Given the description of an element on the screen output the (x, y) to click on. 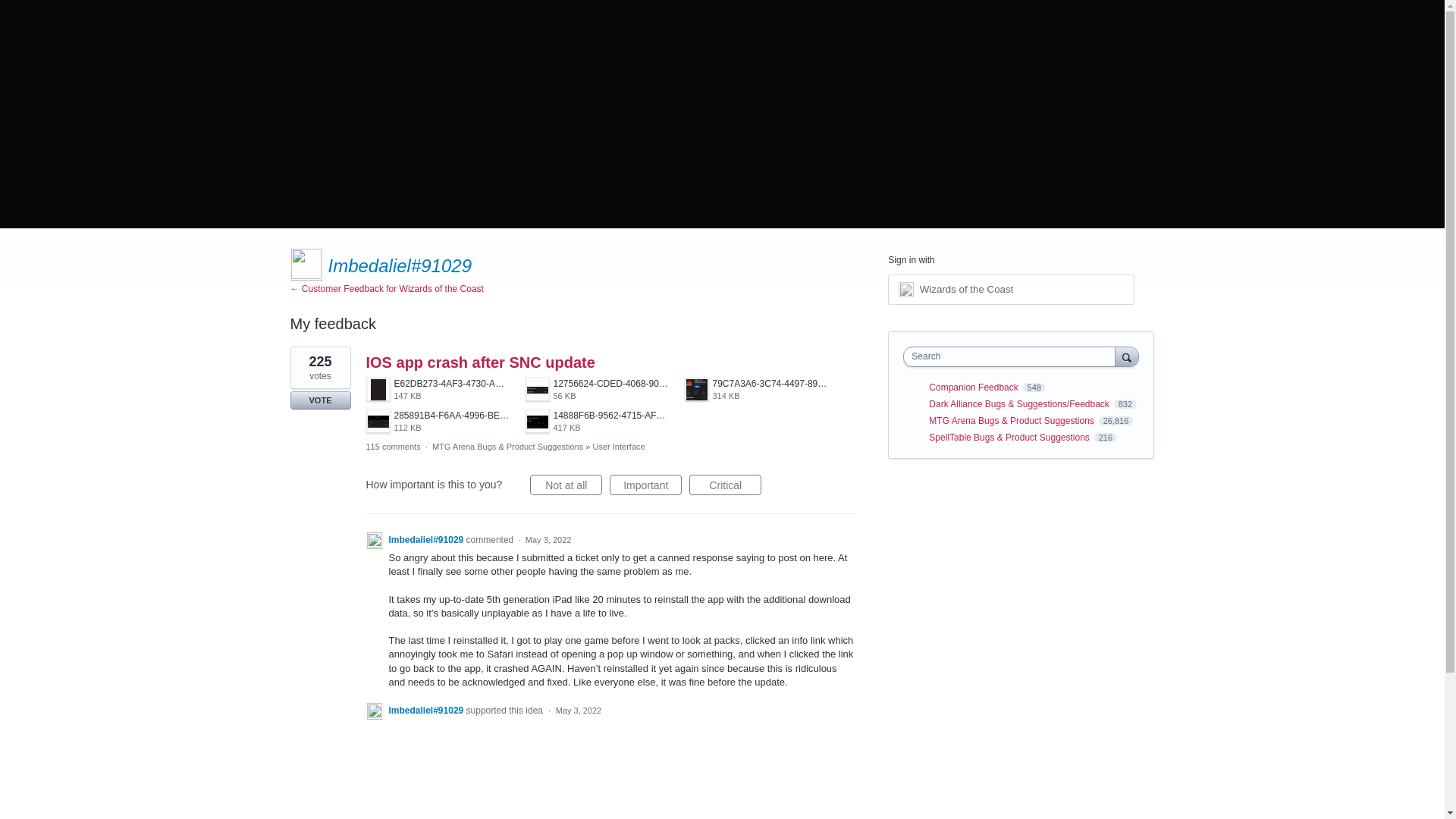
IOS app crash after SNC update (479, 362)
Comments for IOS app crash after SNC update (392, 446)
User Interface (618, 446)
View 12756624-CDED-4068-9002-4FECC34F4D32.jpeg (596, 389)
VOTE (319, 400)
Important (645, 485)
View 79C7A3A6-3C74-4497-899B-6718D53F51AE.jpeg (756, 389)
View 14888F6B-9562-4715-AF90-E523AD8B81D6.jpeg (756, 389)
